Given the description of an element on the screen output the (x, y) to click on. 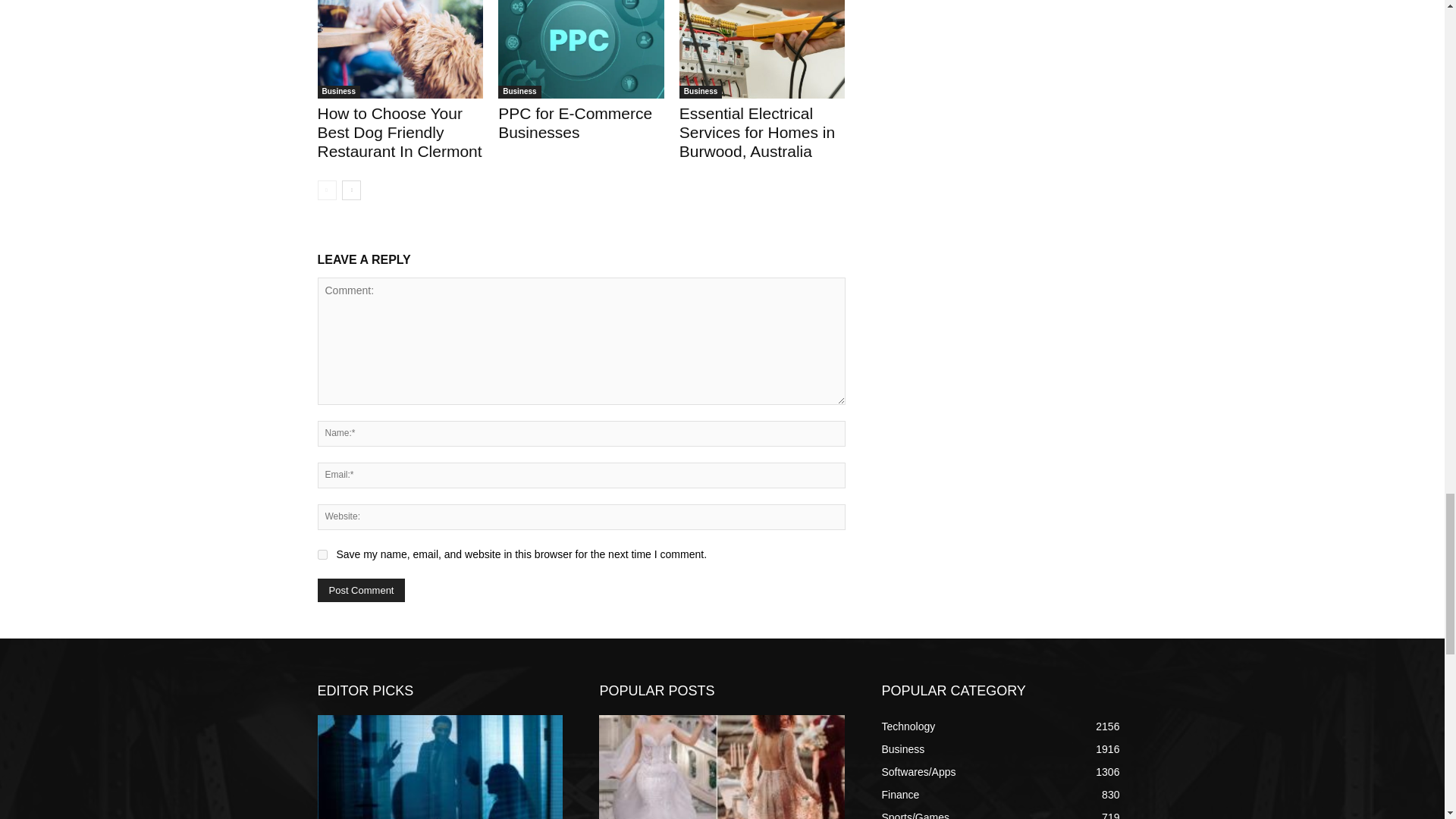
Post Comment (360, 589)
yes (321, 554)
